Given the description of an element on the screen output the (x, y) to click on. 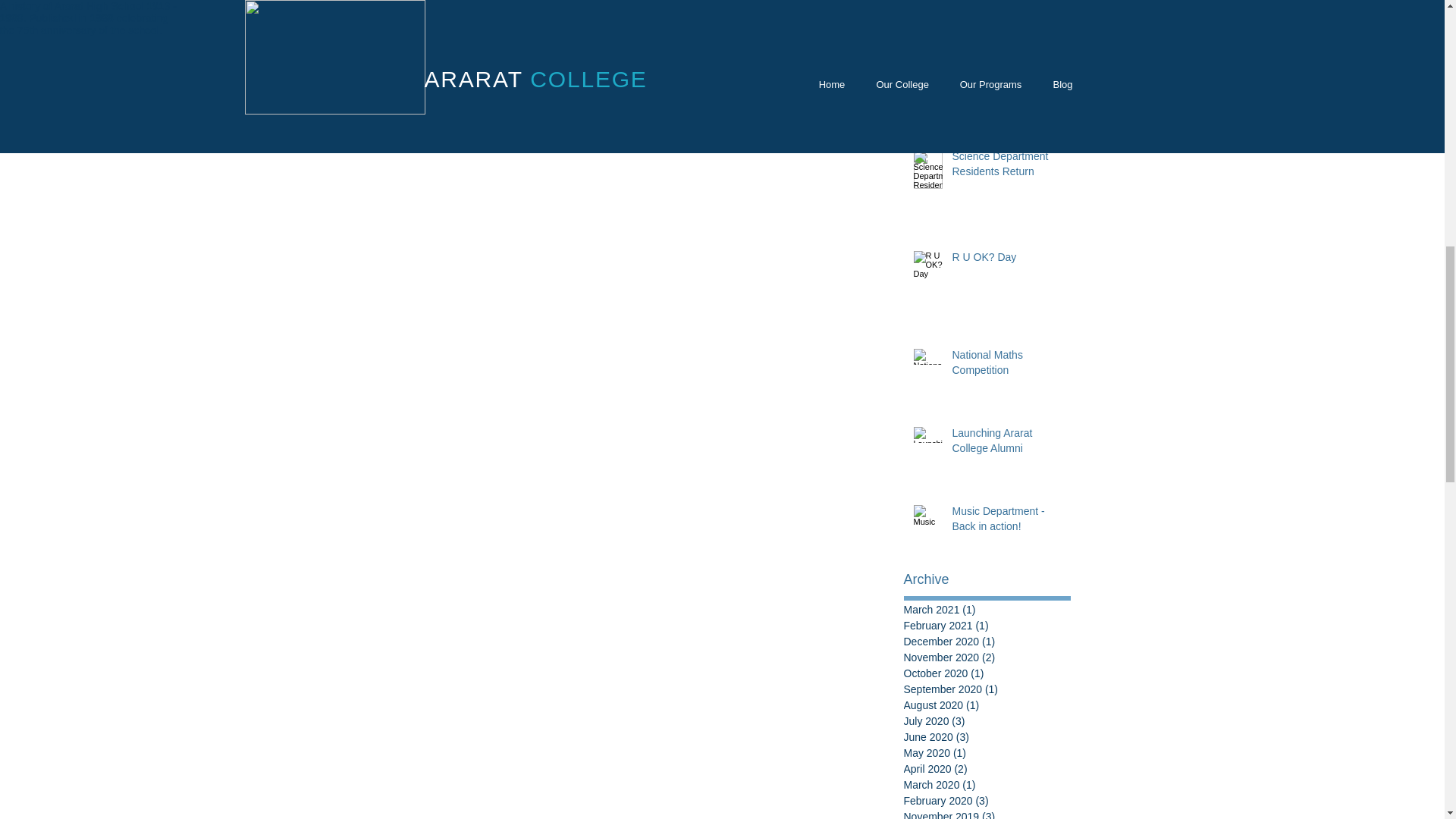
National Maths Competition (1006, 366)
Lake Bolac Eel Festival (1006, 66)
Science Department Residents Return (1006, 167)
Launching Ararat College Alumni (1006, 443)
R U OK? Day (1006, 260)
Music Department - Back in action! (1006, 521)
